Given the description of an element on the screen output the (x, y) to click on. 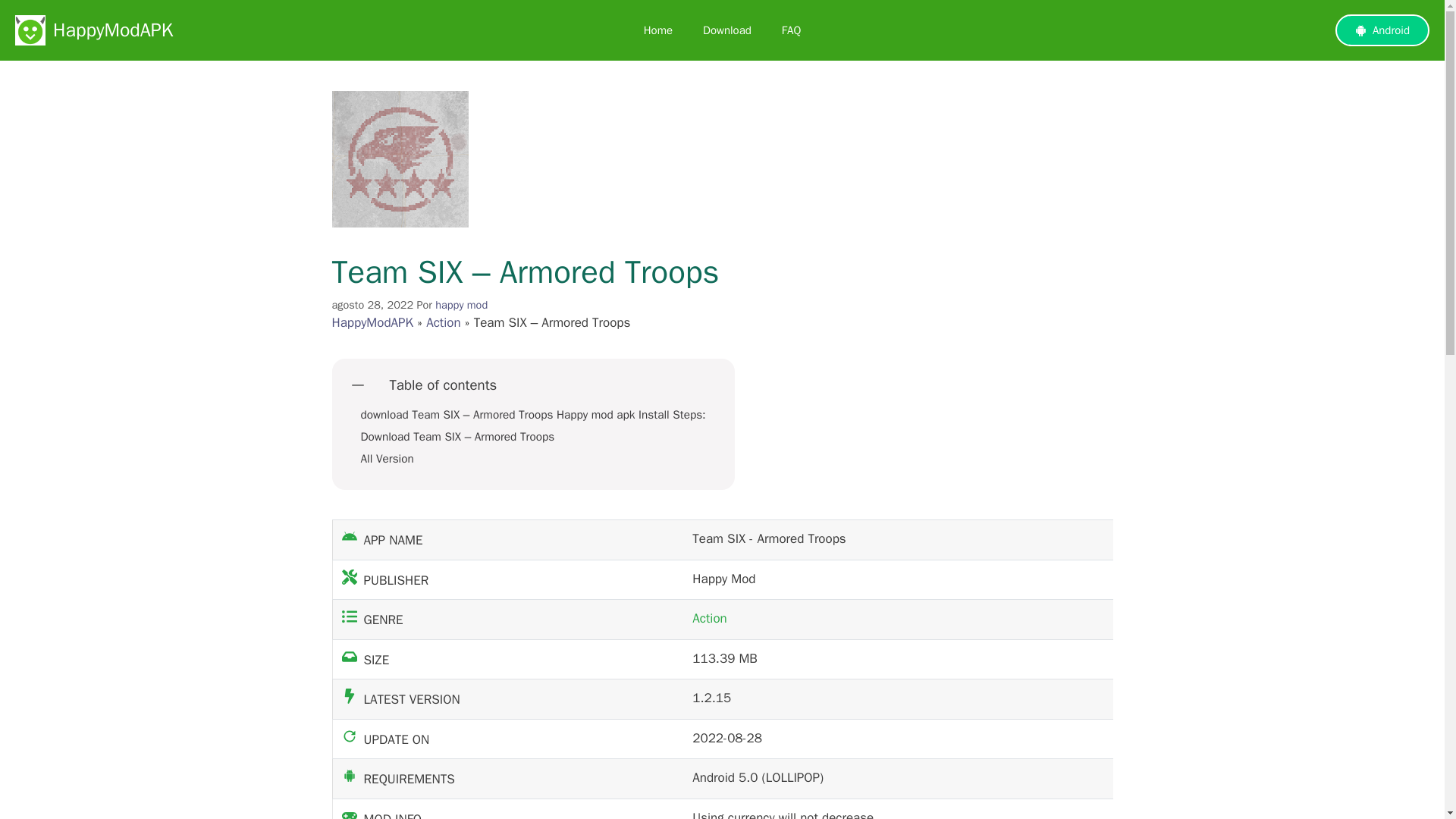
happy mod (461, 305)
HappyModAPK (372, 322)
Action (443, 322)
Home (657, 30)
All Version (387, 458)
Team SIX - Armored Troops 1Happymodapk Free Download (399, 158)
Download (727, 30)
FAQ (791, 30)
All Version (387, 458)
Ver todos os posts por happy mod (461, 305)
Android (1382, 30)
Download (727, 30)
FAQ (791, 30)
Home (657, 30)
Action (709, 618)
